Given the description of an element on the screen output the (x, y) to click on. 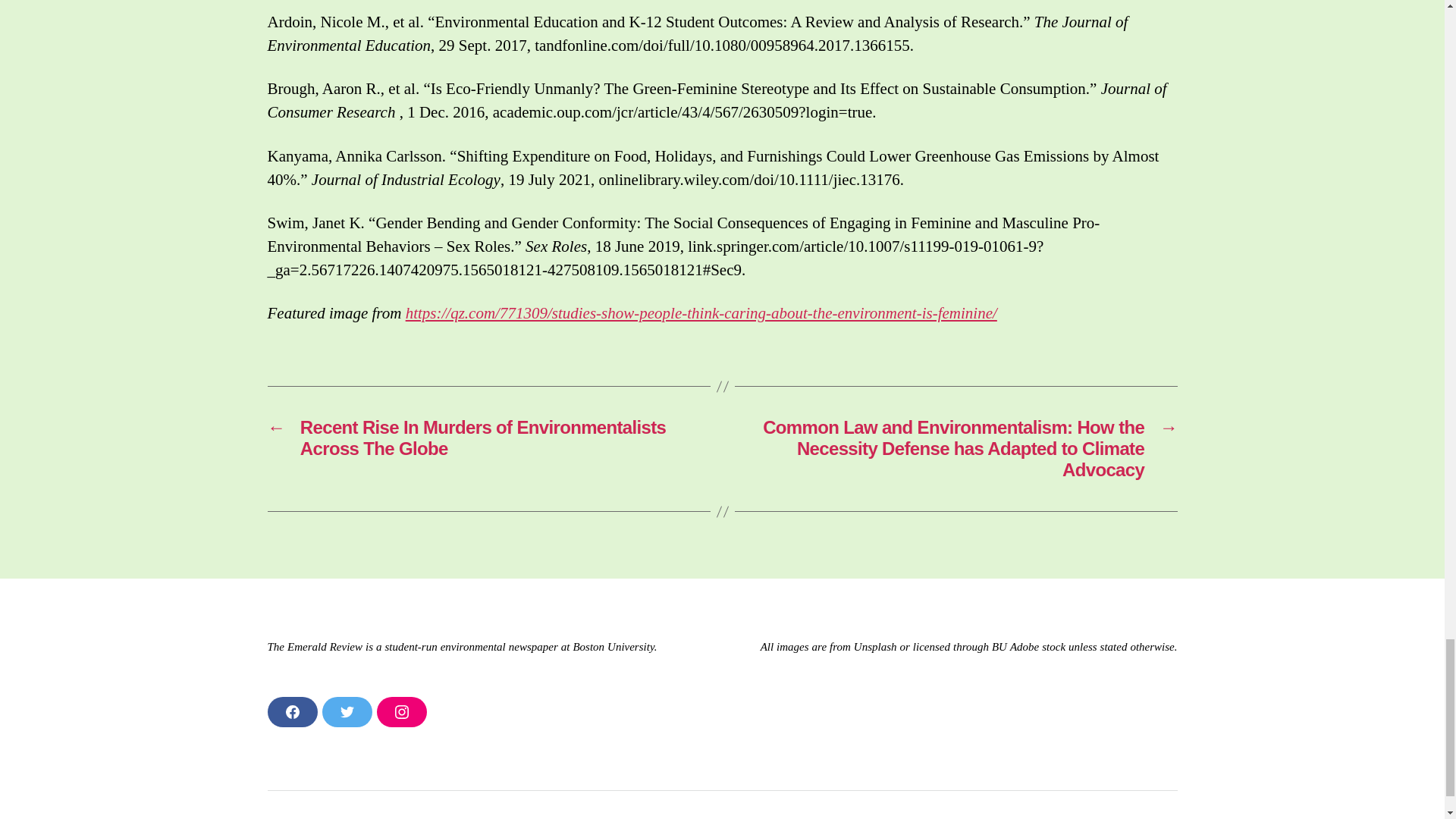
Facebook (291, 711)
Instagram (400, 711)
INSTAGRAM (400, 711)
Twitter (346, 711)
FACEBOOK (291, 711)
TWITTER (346, 711)
